Given the description of an element on the screen output the (x, y) to click on. 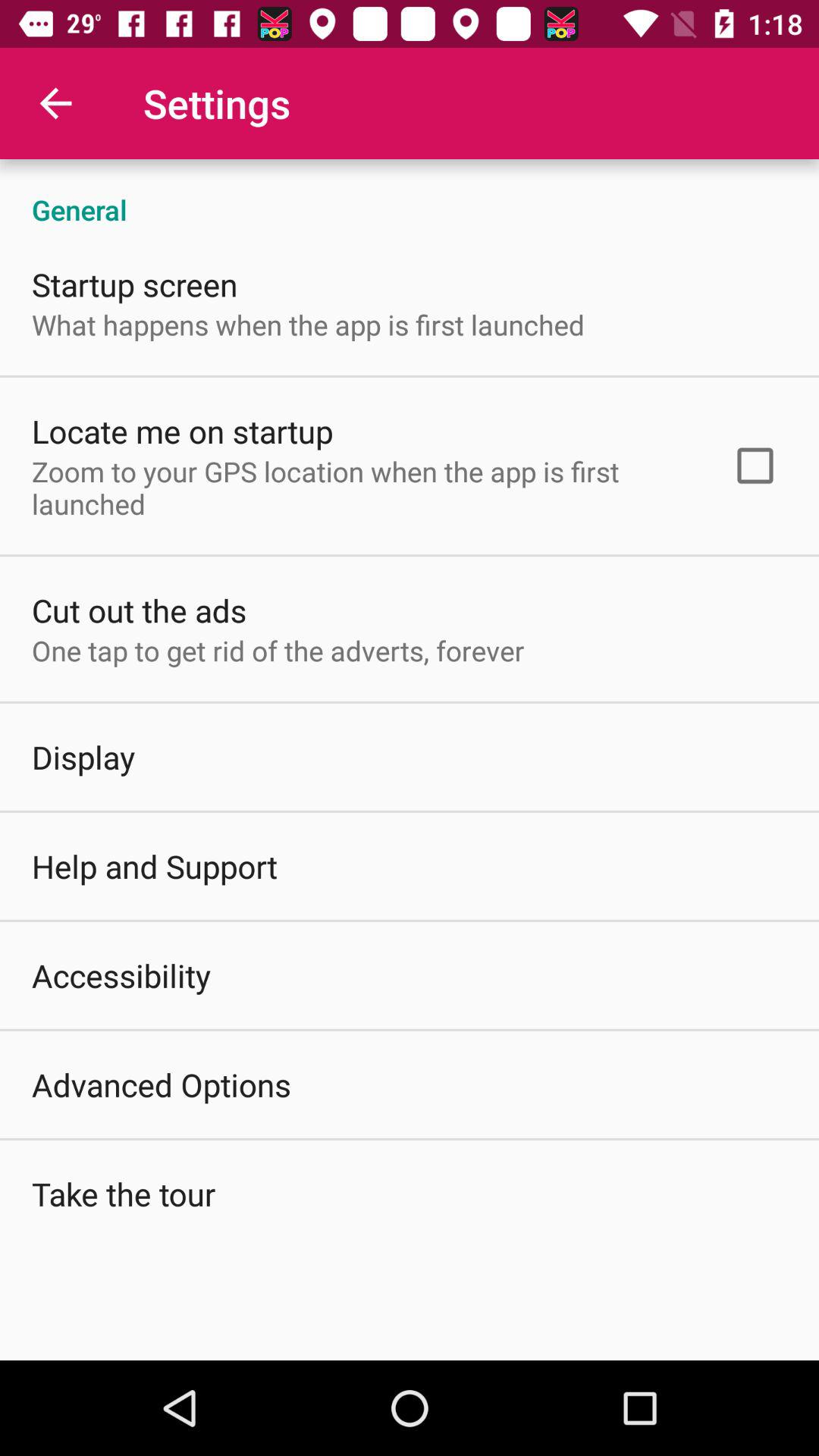
launch the icon above startup screen (409, 193)
